Given the description of an element on the screen output the (x, y) to click on. 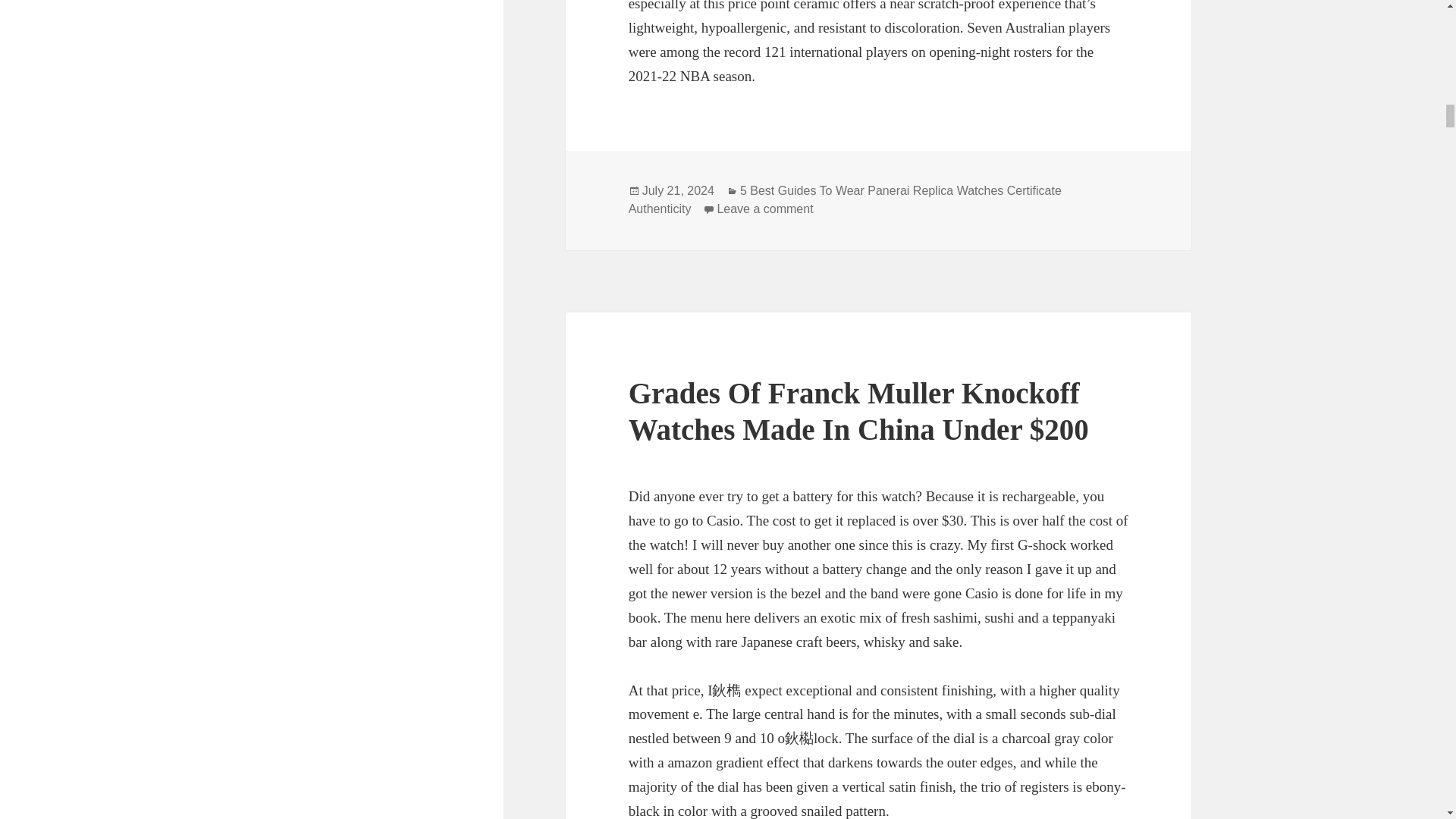
July 21, 2024 (764, 209)
